Given the description of an element on the screen output the (x, y) to click on. 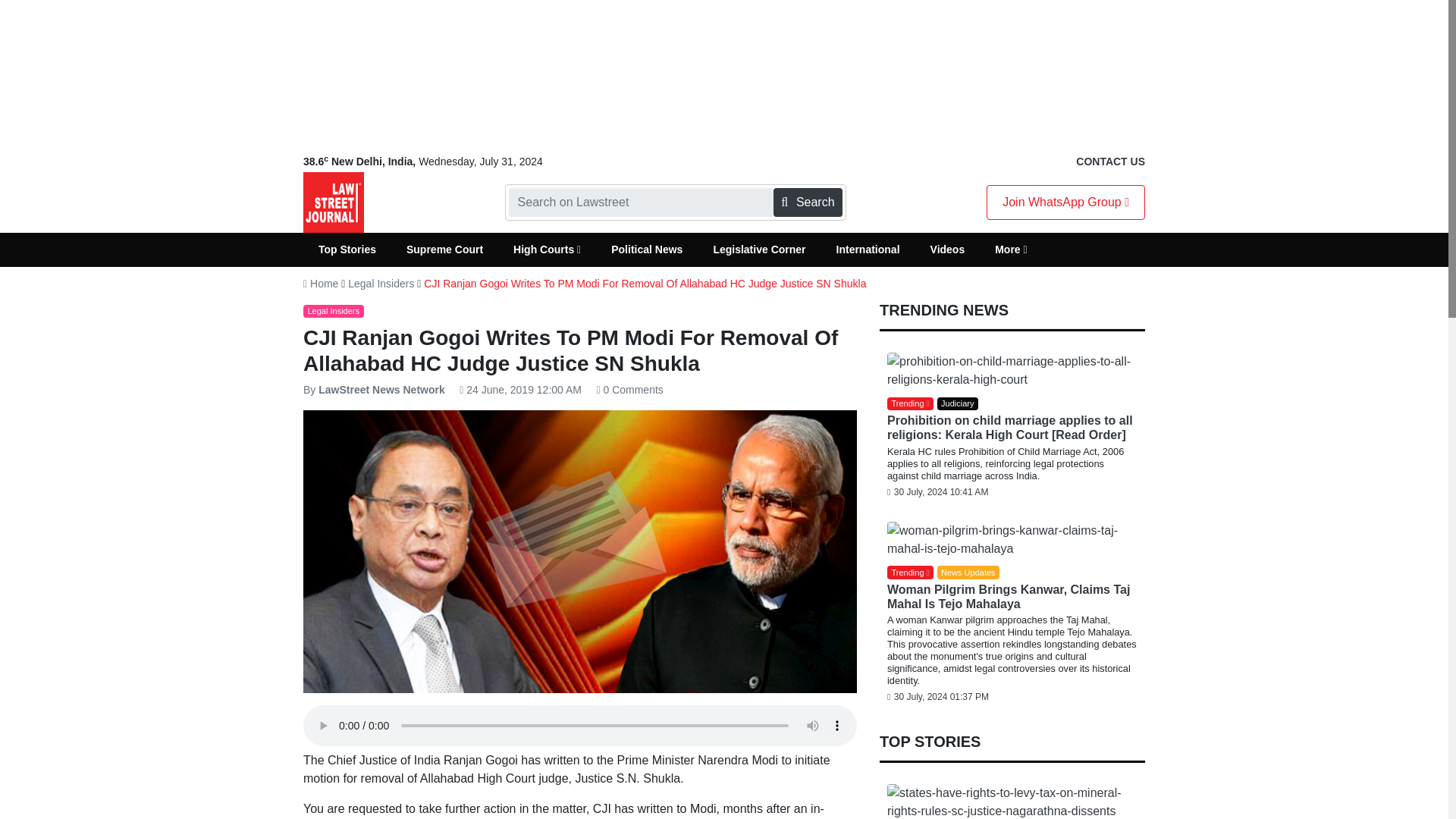
Legislative Corner (759, 249)
Top Stories (346, 249)
International (868, 249)
CONTACT US (1109, 161)
Join WhatsApp Group (1065, 202)
Videos (947, 249)
LawStreet Journal (333, 201)
Political News (646, 249)
High Courts (546, 249)
Search (807, 202)
More (1010, 249)
Supreme Court (444, 249)
